Given the description of an element on the screen output the (x, y) to click on. 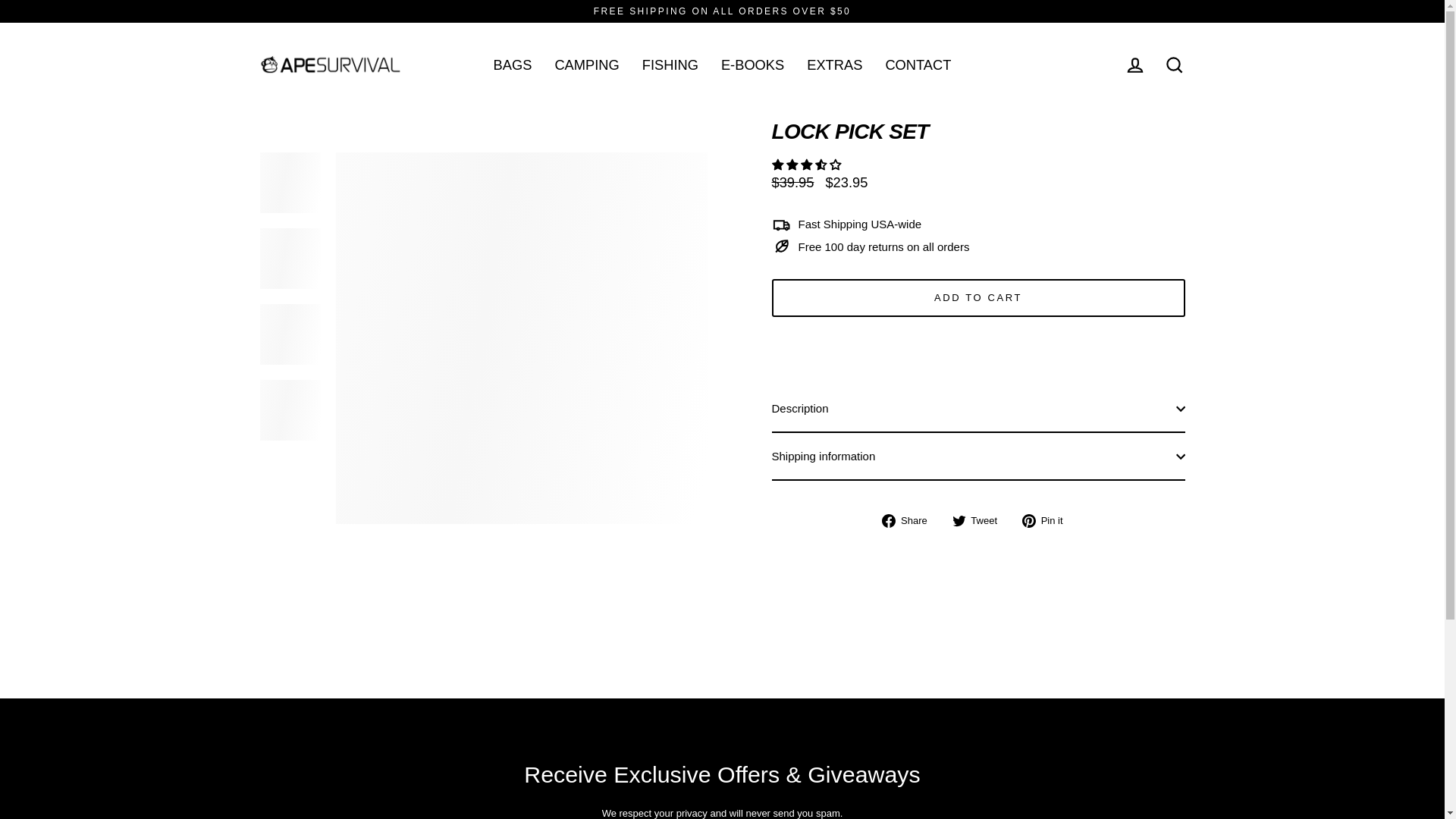
Pin on Pinterest (1048, 520)
Tweet on Twitter (980, 520)
Share on Facebook (909, 520)
